Given the description of an element on the screen output the (x, y) to click on. 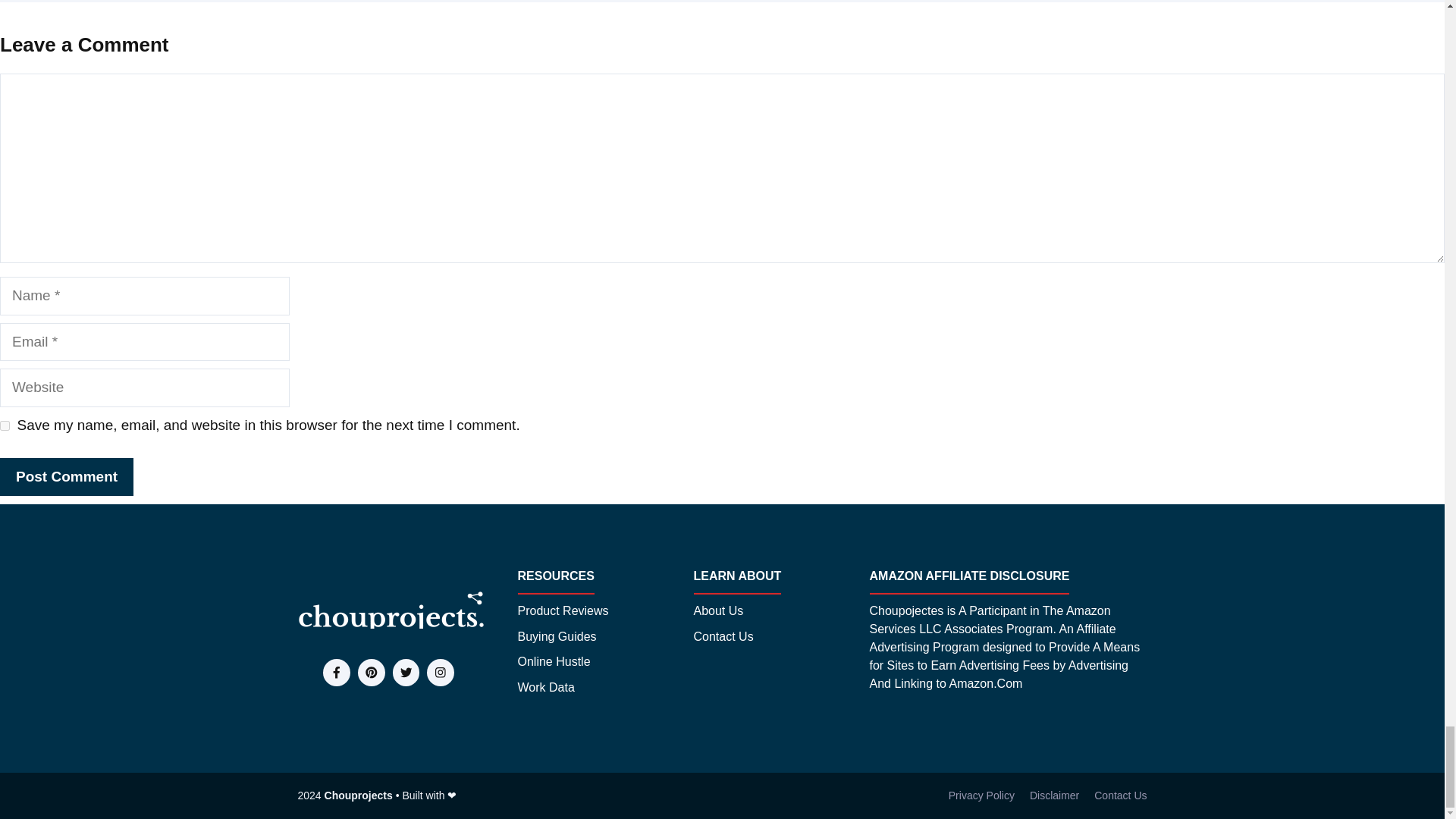
Contact Us (1120, 795)
Product Reviews (562, 610)
Work Data (544, 687)
yes (5, 425)
Disclaimer (1053, 795)
Post Comment (66, 476)
Privacy Policy (981, 795)
Post Comment (66, 476)
Contact Us (722, 637)
About Us (717, 610)
Online Hustle (552, 661)
Buying Guides (555, 637)
